Given the description of an element on the screen output the (x, y) to click on. 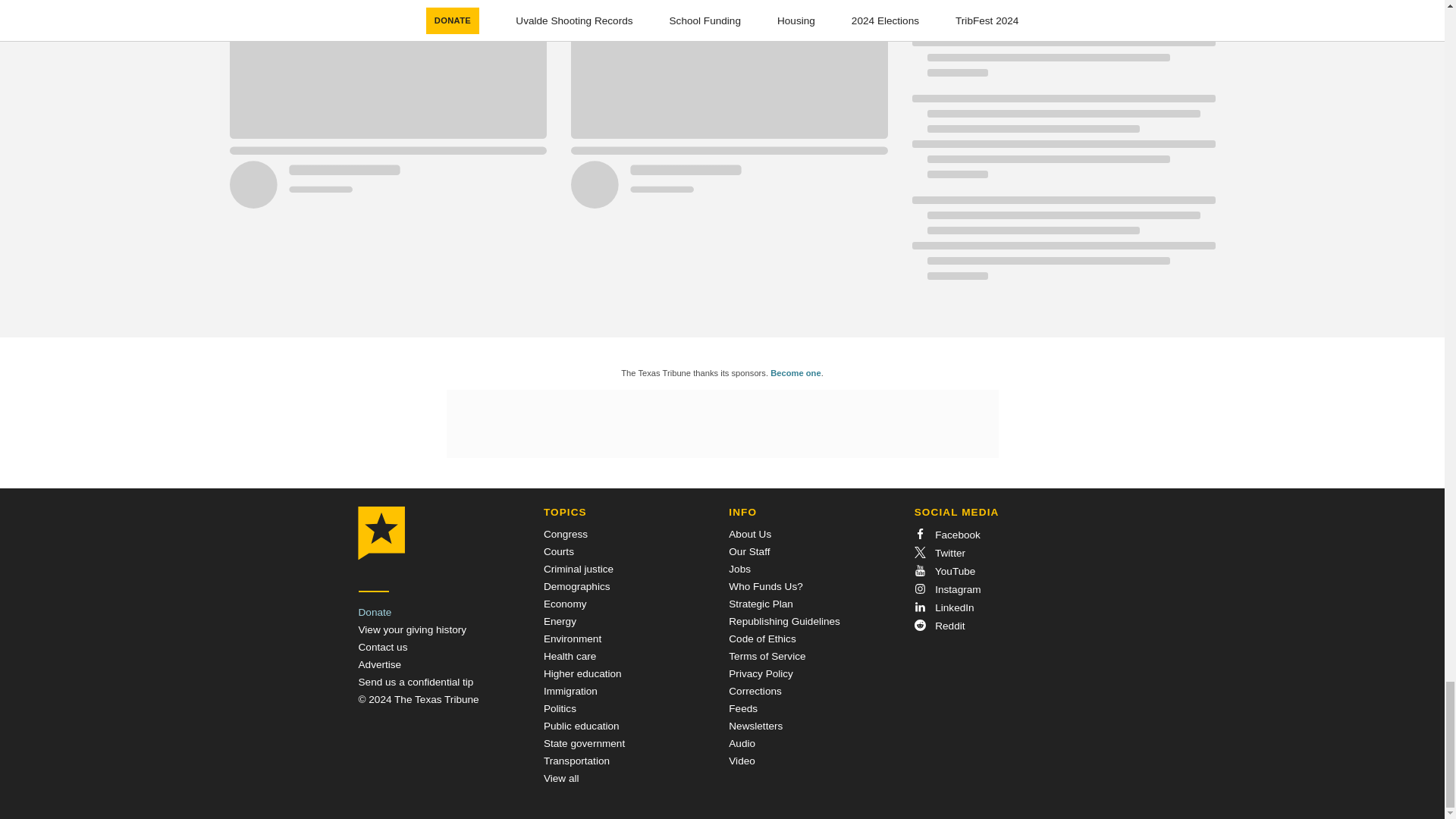
Feeds (743, 708)
Newsletters (756, 726)
Strategic Plan (761, 603)
Audio (742, 743)
Who Funds Us? (765, 586)
Terms of Service (767, 655)
Corrections (755, 690)
Privacy Policy (761, 673)
Donate (374, 612)
View your giving history (411, 629)
